Given the description of an element on the screen output the (x, y) to click on. 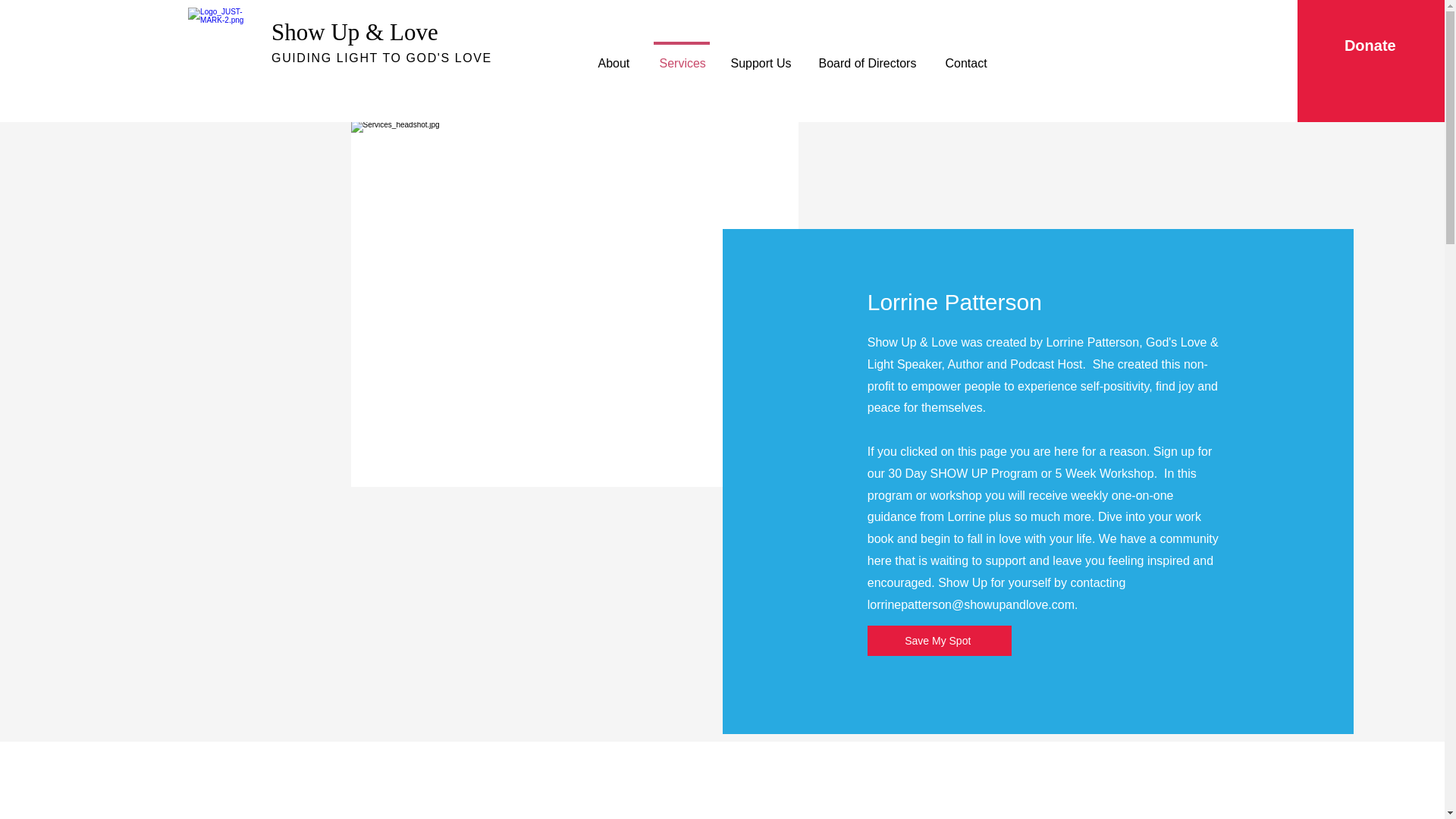
GUIDING LIGHT TO GOD'S LOVE (381, 57)
About (614, 56)
Support Us (761, 56)
Donate (1370, 45)
Contact (966, 56)
Services (681, 56)
Board of Directors (868, 56)
Save My Spot (939, 640)
